Given the description of an element on the screen output the (x, y) to click on. 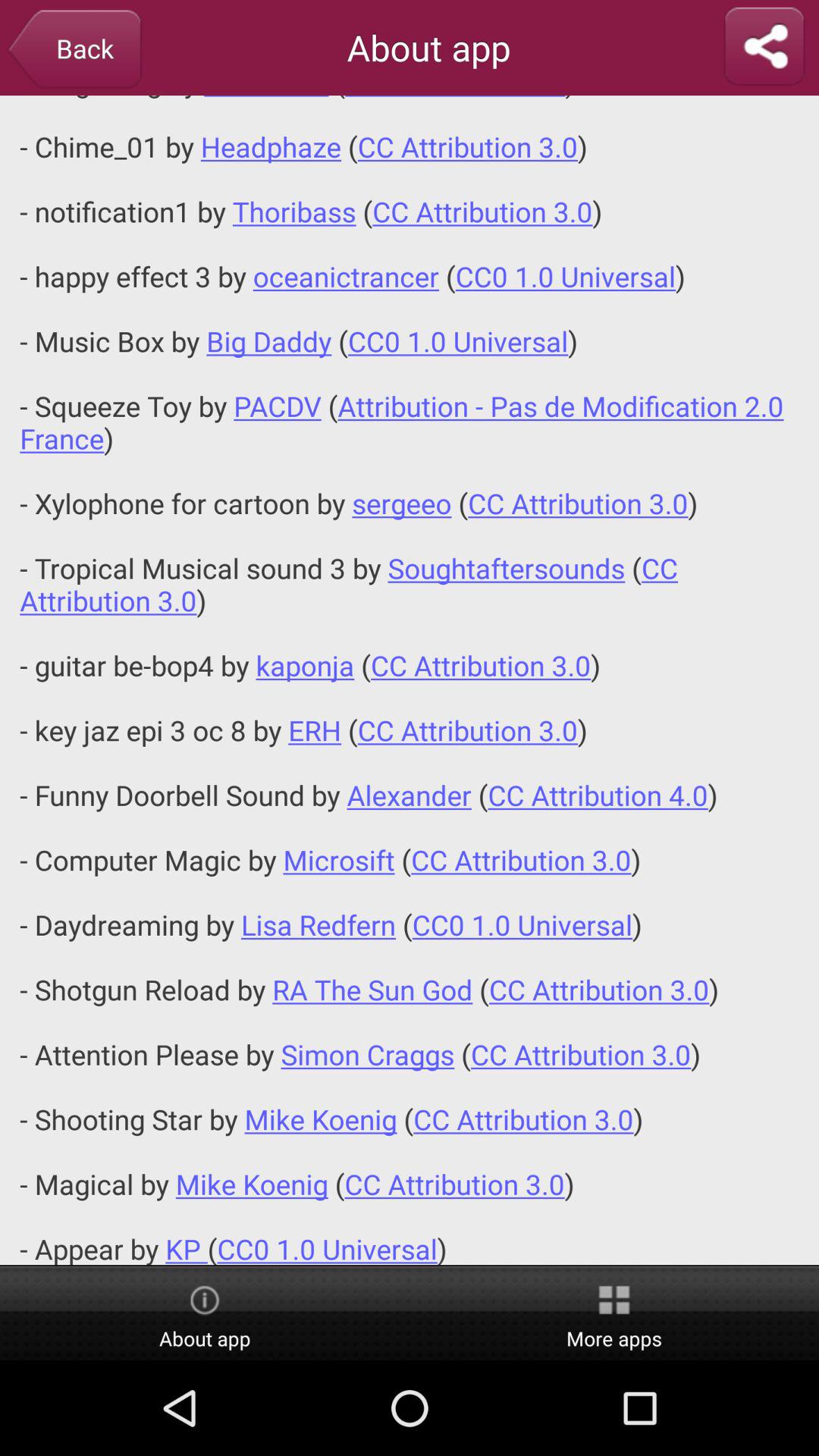
choose item to the right of about app icon (614, 1314)
